Given the description of an element on the screen output the (x, y) to click on. 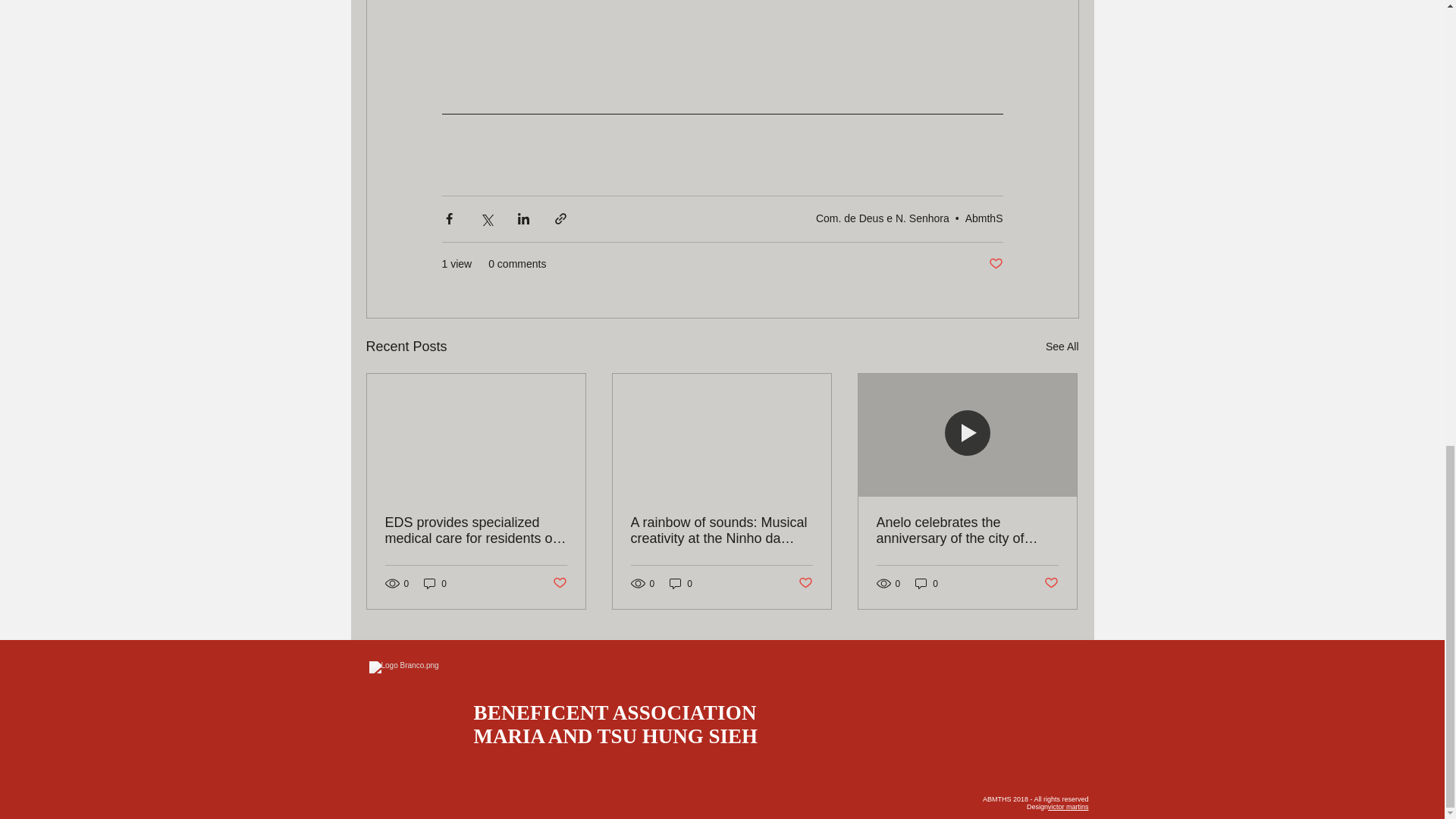
See All (1061, 346)
AbmthS (984, 218)
Post not marked as liked (995, 263)
Com. de Deus e N. Senhora (882, 218)
